Given the description of an element on the screen output the (x, y) to click on. 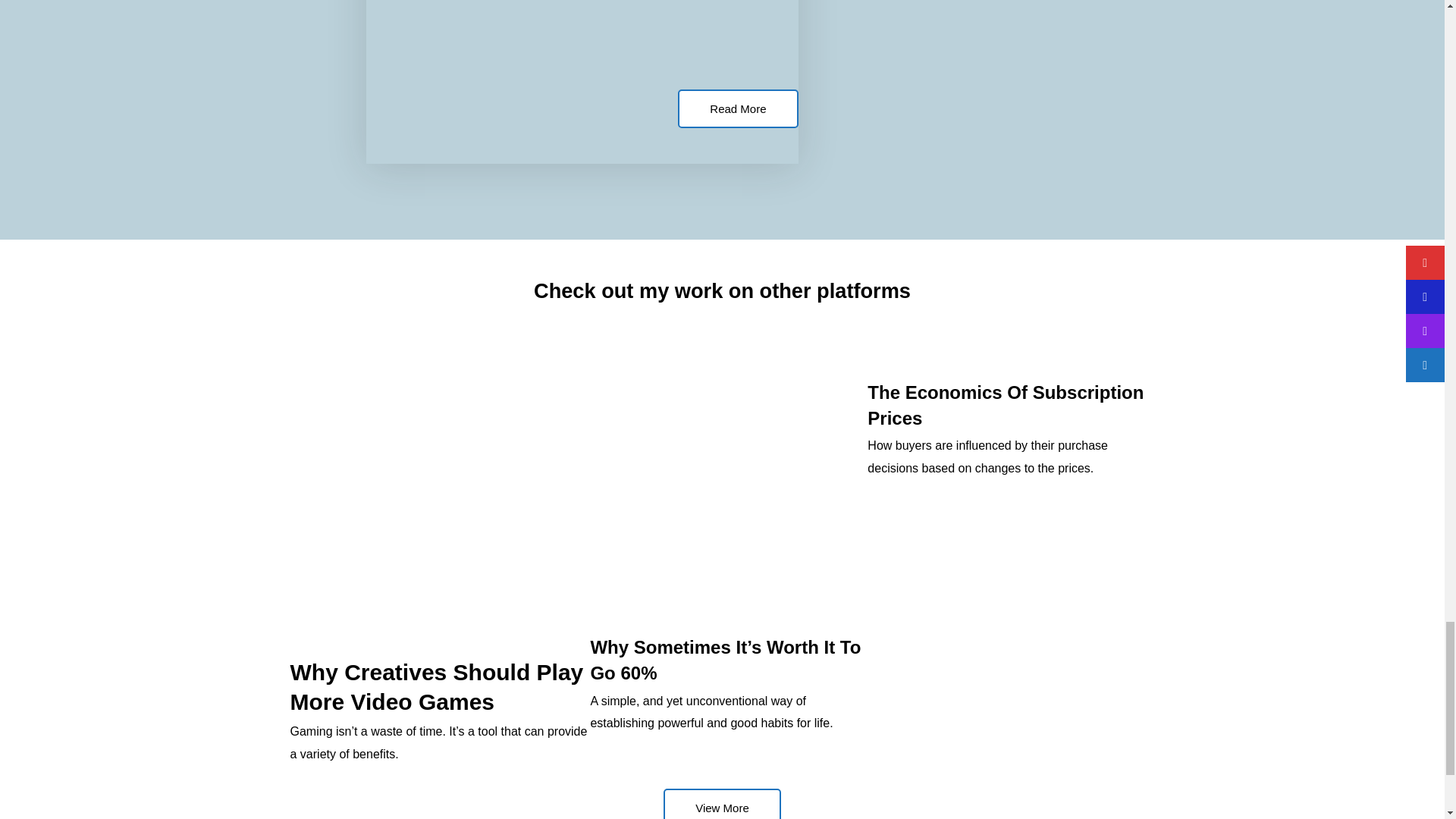
Read More (737, 108)
View More (721, 803)
Why Creatives Should Play More Video Games (436, 687)
